Given the description of an element on the screen output the (x, y) to click on. 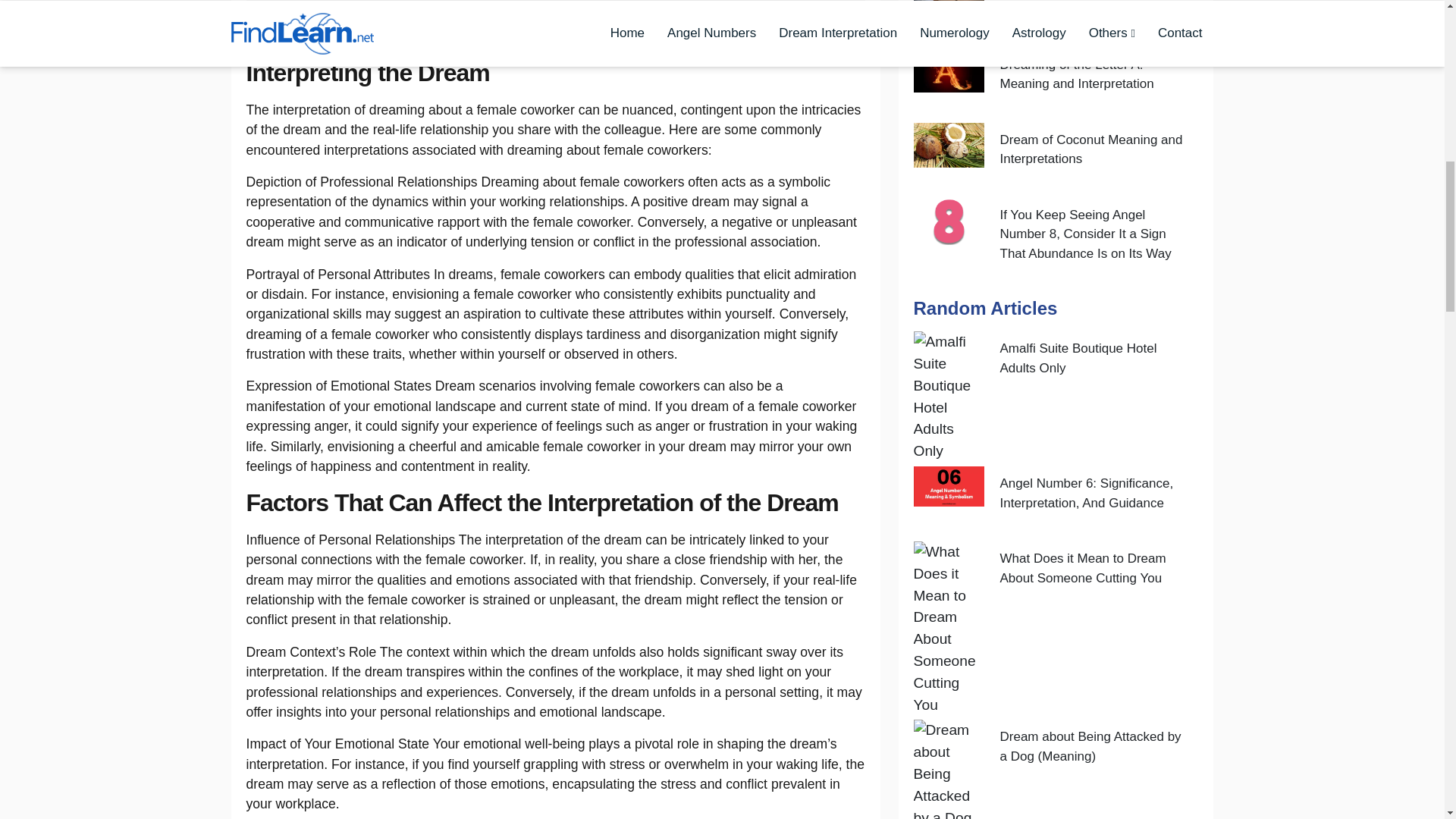
In Conclusion (307, 11)
